Given the description of an element on the screen output the (x, y) to click on. 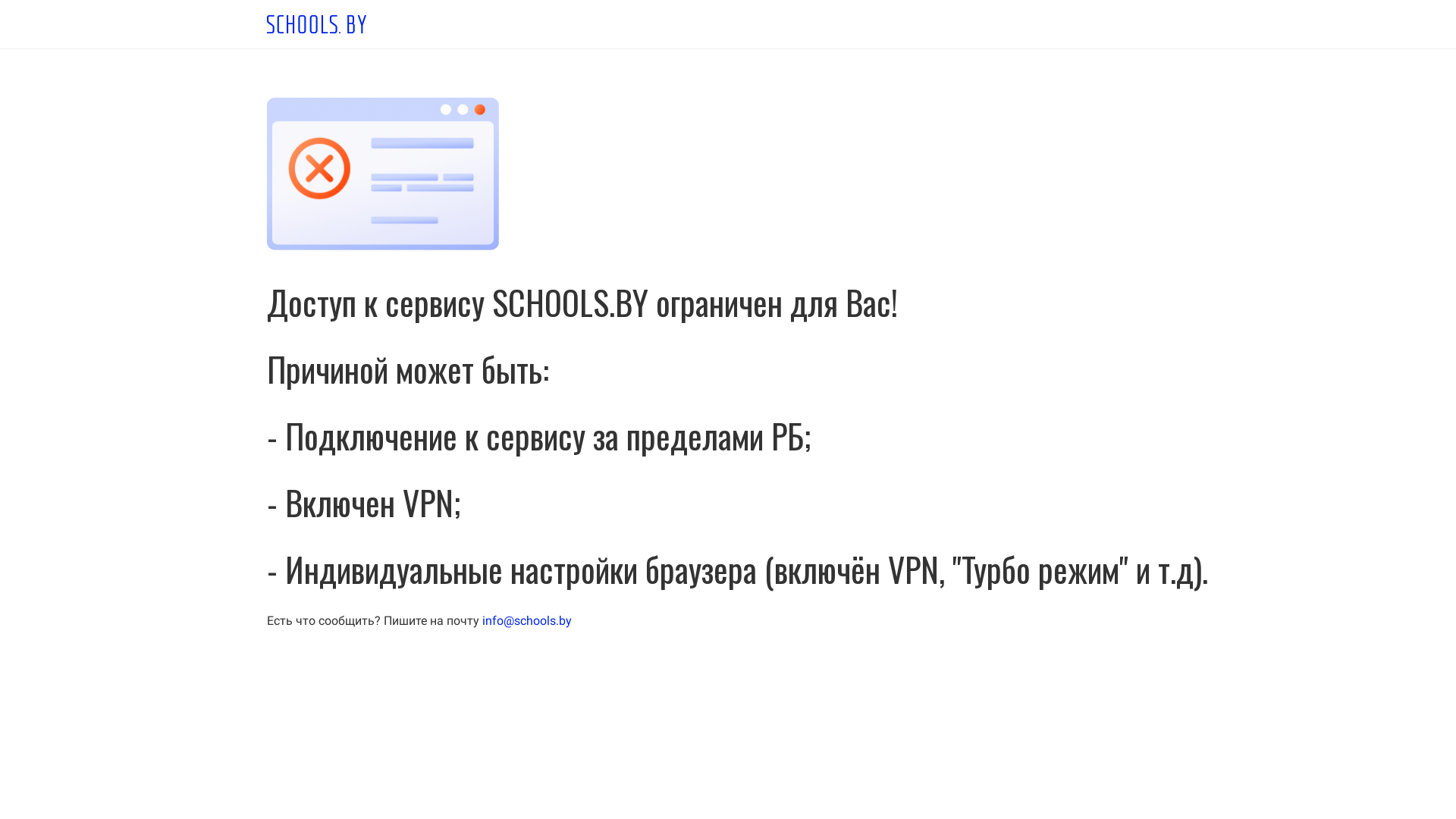
info@schools.by Element type: text (526, 620)
